Given the description of an element on the screen output the (x, y) to click on. 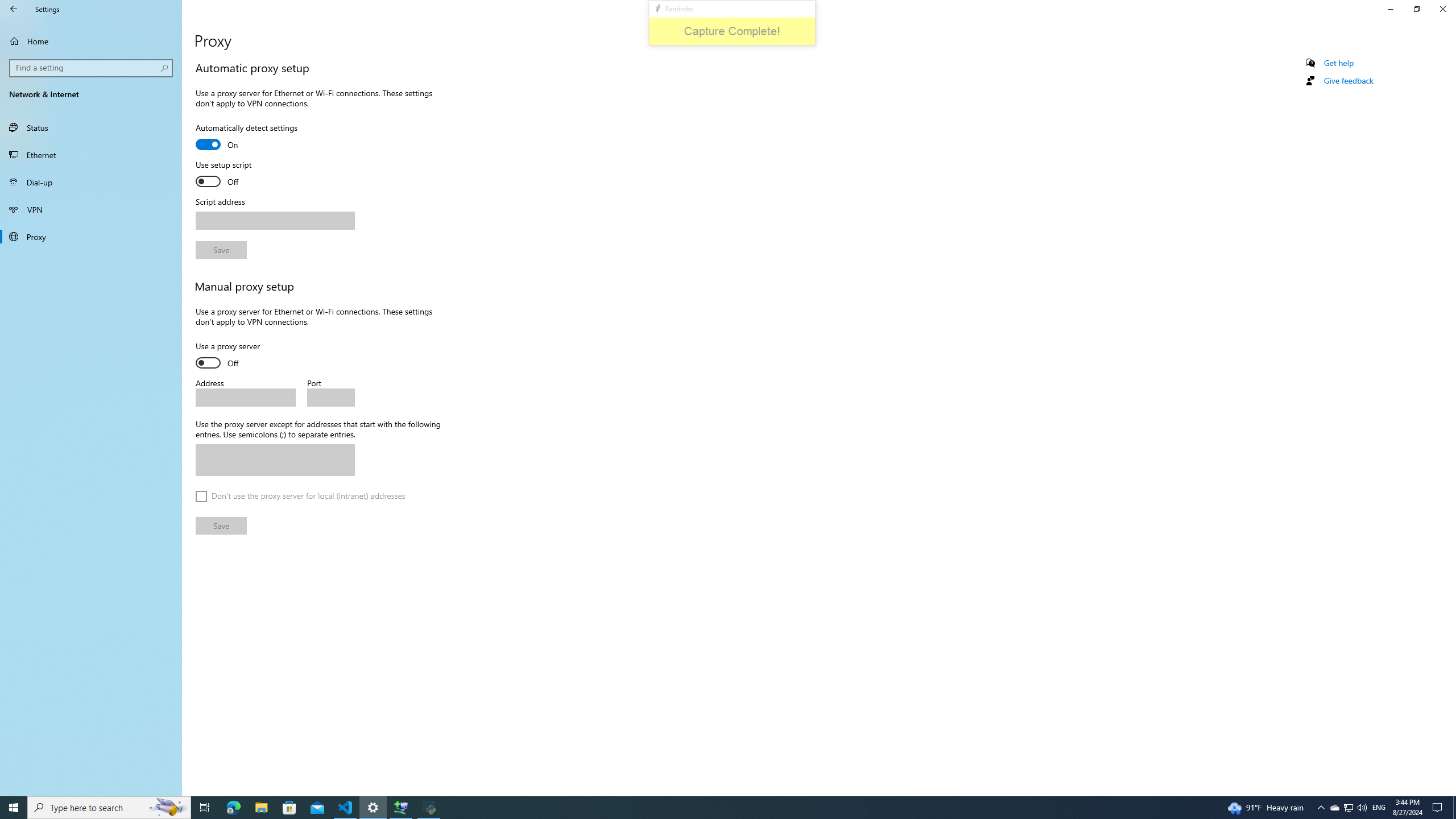
Restore Settings (1416, 9)
Give feedback (1348, 80)
Search box, Find a setting (91, 67)
Home (91, 40)
Ethernet (91, 154)
Script address (275, 220)
